Given the description of an element on the screen output the (x, y) to click on. 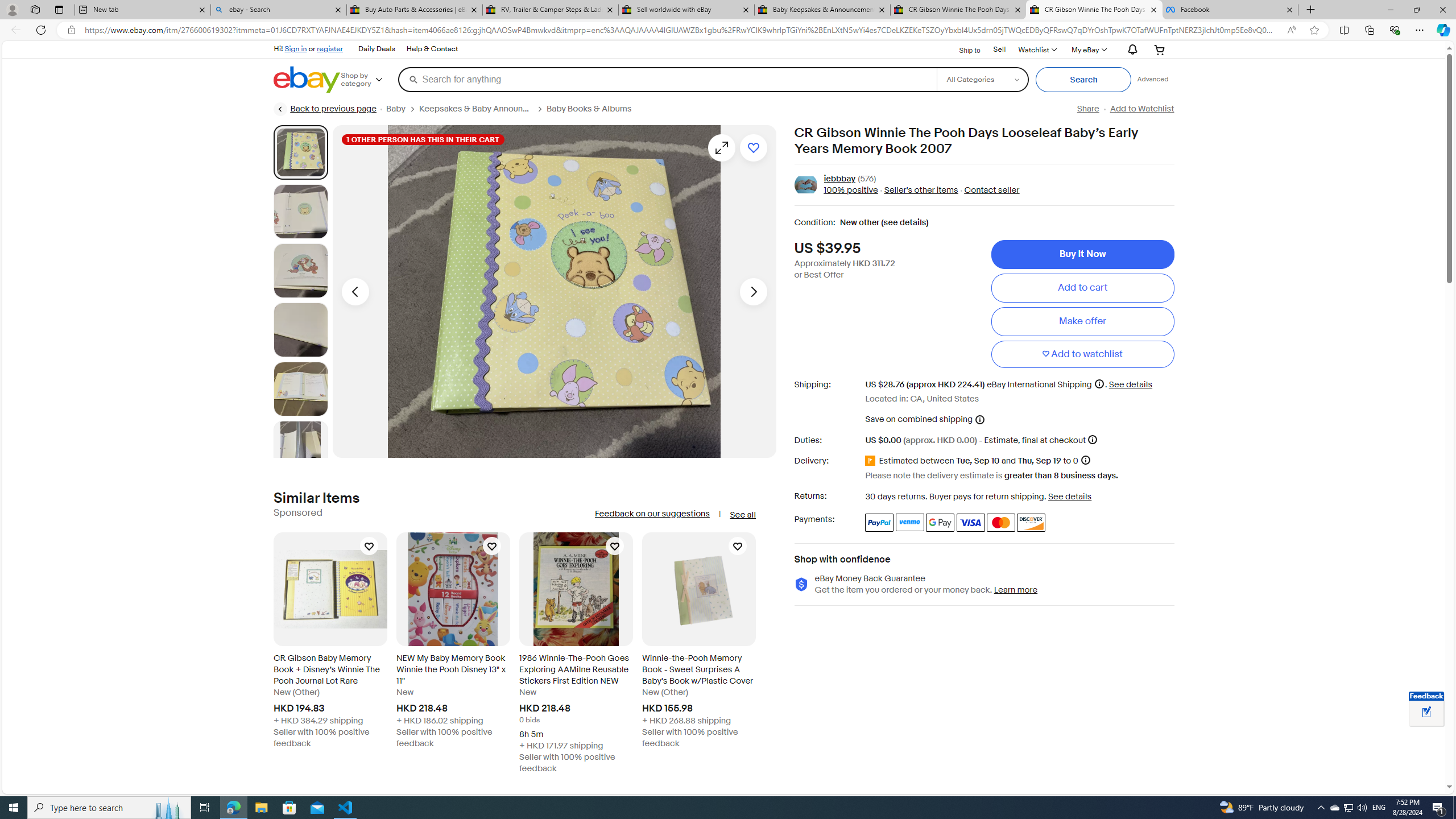
Watchlist (1036, 49)
Baby (395, 108)
Keepsakes & Baby Announcements (475, 108)
Picture 5 of 22 (300, 388)
iebbbay (840, 179)
Picture 5 of 22 (300, 388)
Picture 3 of 22 (300, 270)
